Given the description of an element on the screen output the (x, y) to click on. 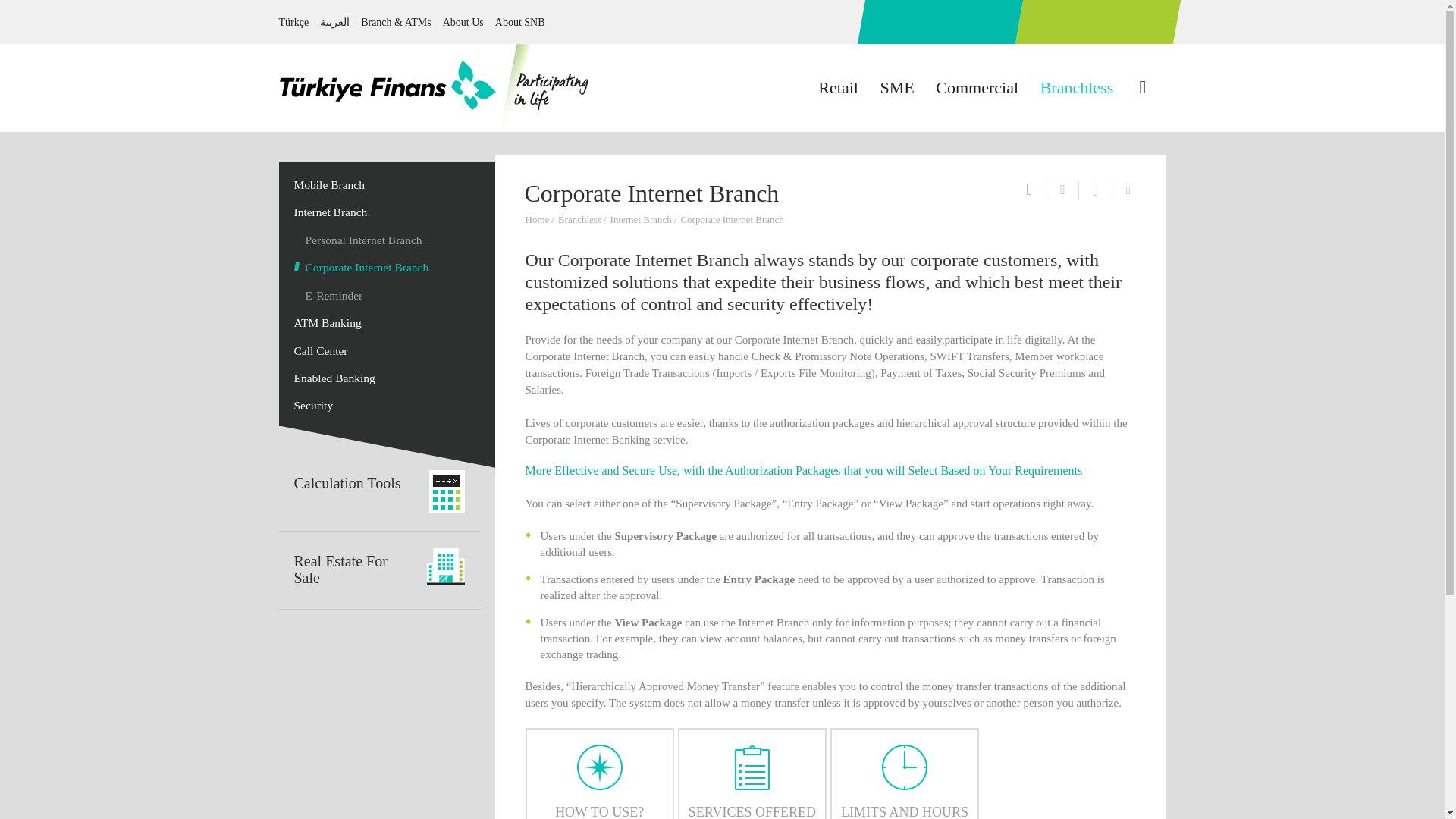
Internet Branch (642, 219)
Home (537, 219)
About Us (462, 21)
Branchless (580, 219)
Ana Sayfa (435, 85)
About SNB (519, 21)
